Given the description of an element on the screen output the (x, y) to click on. 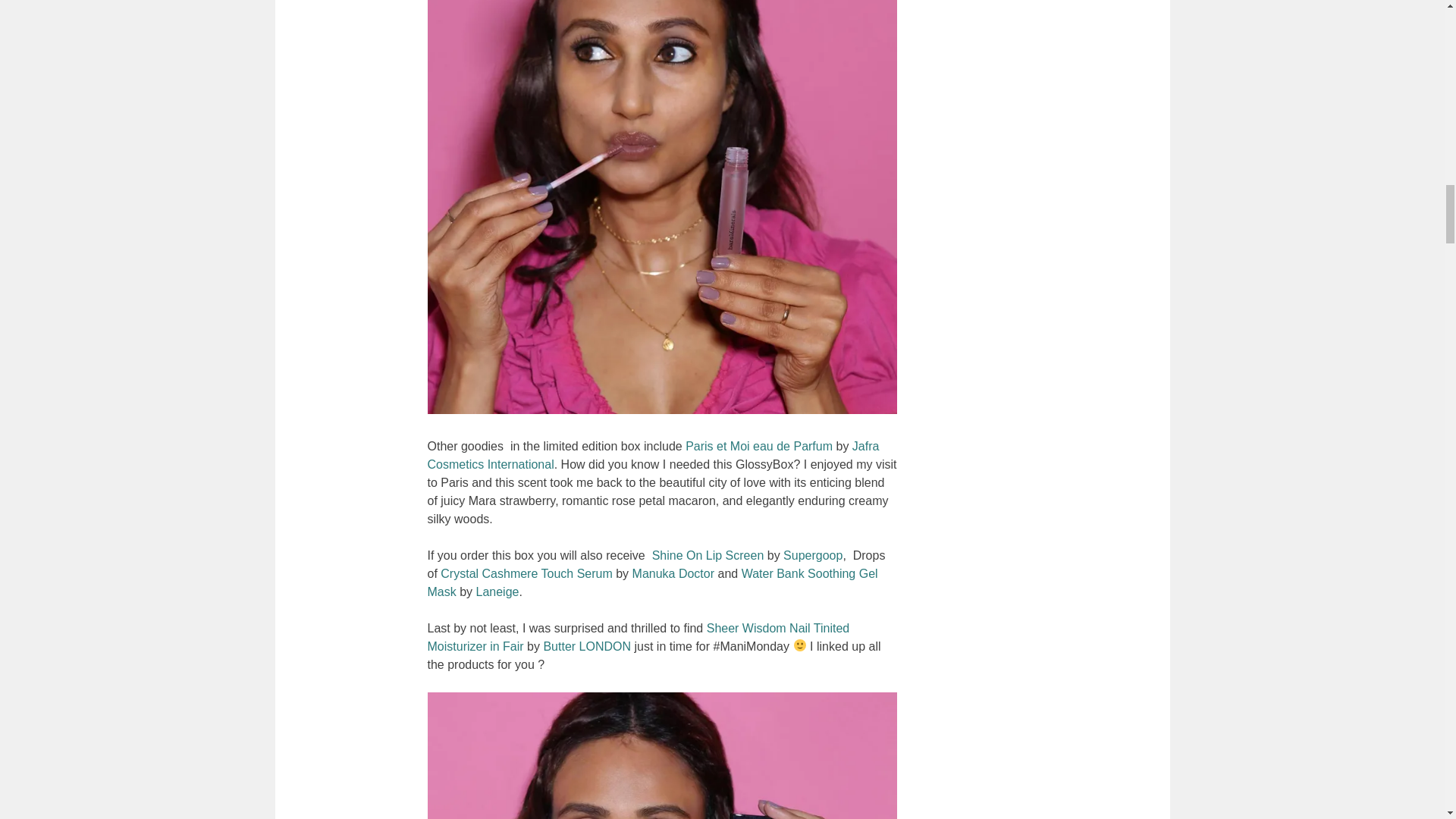
Laneige (497, 591)
Water Bank Soothing Gel Mask (652, 582)
Supergoop (813, 554)
Paris et Moi eau de Parfum (758, 445)
Jafra Cosmetics International (653, 454)
Manuka Doctor (672, 573)
Butter LONDON (586, 645)
Sheer Wisdom Nail Tinited Moisturizer in Fair (639, 636)
Crystal Cashmere Touch Serum (526, 573)
Shine On Lip Screen (708, 554)
